Given the description of an element on the screen output the (x, y) to click on. 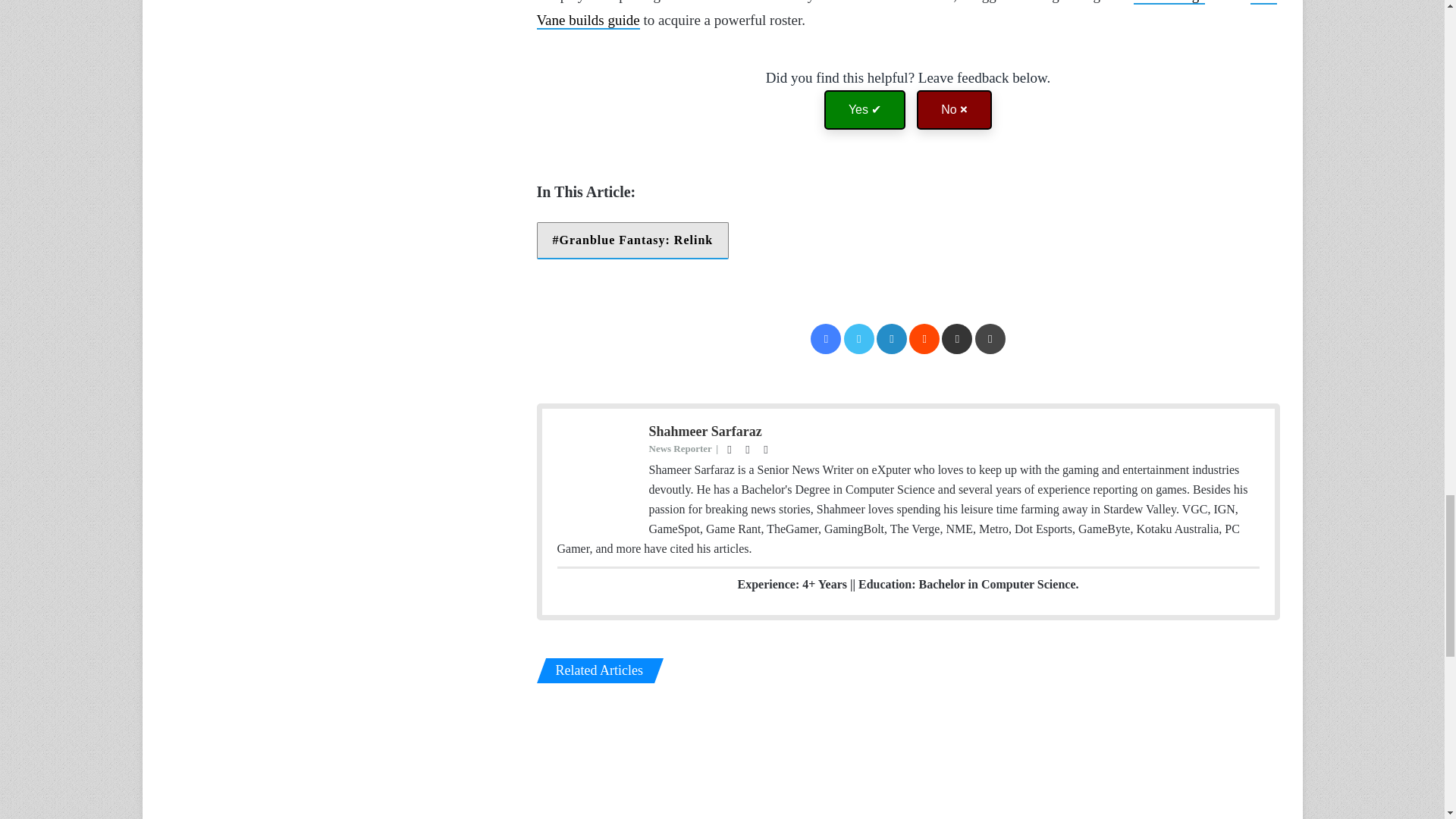
Share via Email (957, 338)
Reddit (923, 338)
Print (990, 338)
LinkedIn (891, 338)
Facebook (825, 338)
Twitter (859, 338)
